Given the description of an element on the screen output the (x, y) to click on. 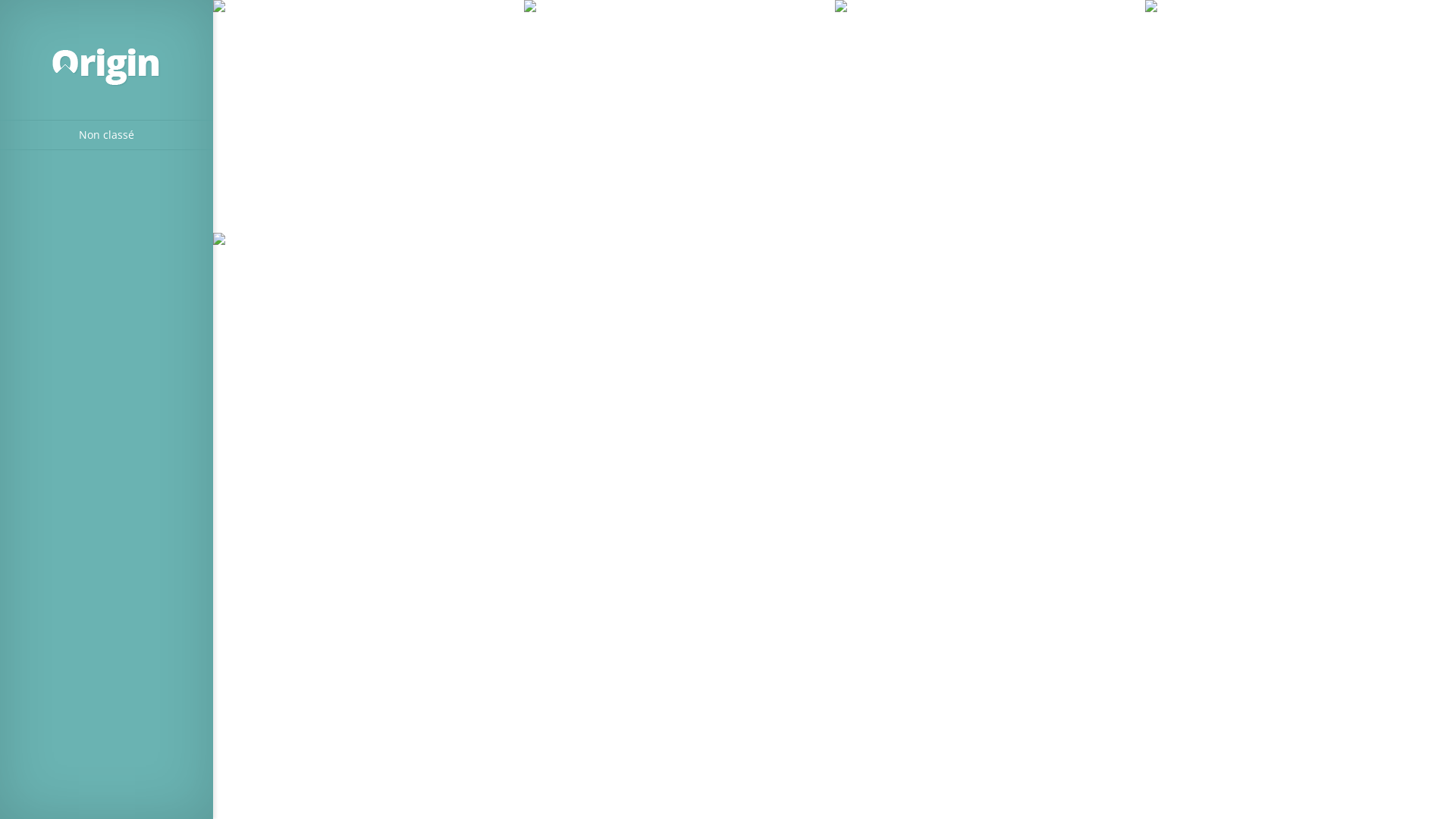
Read more Element type: text (1144, 232)
Read more Element type: text (523, 465)
Read more Element type: text (523, 232)
Read more Element type: text (834, 232)
